Given the description of an element on the screen output the (x, y) to click on. 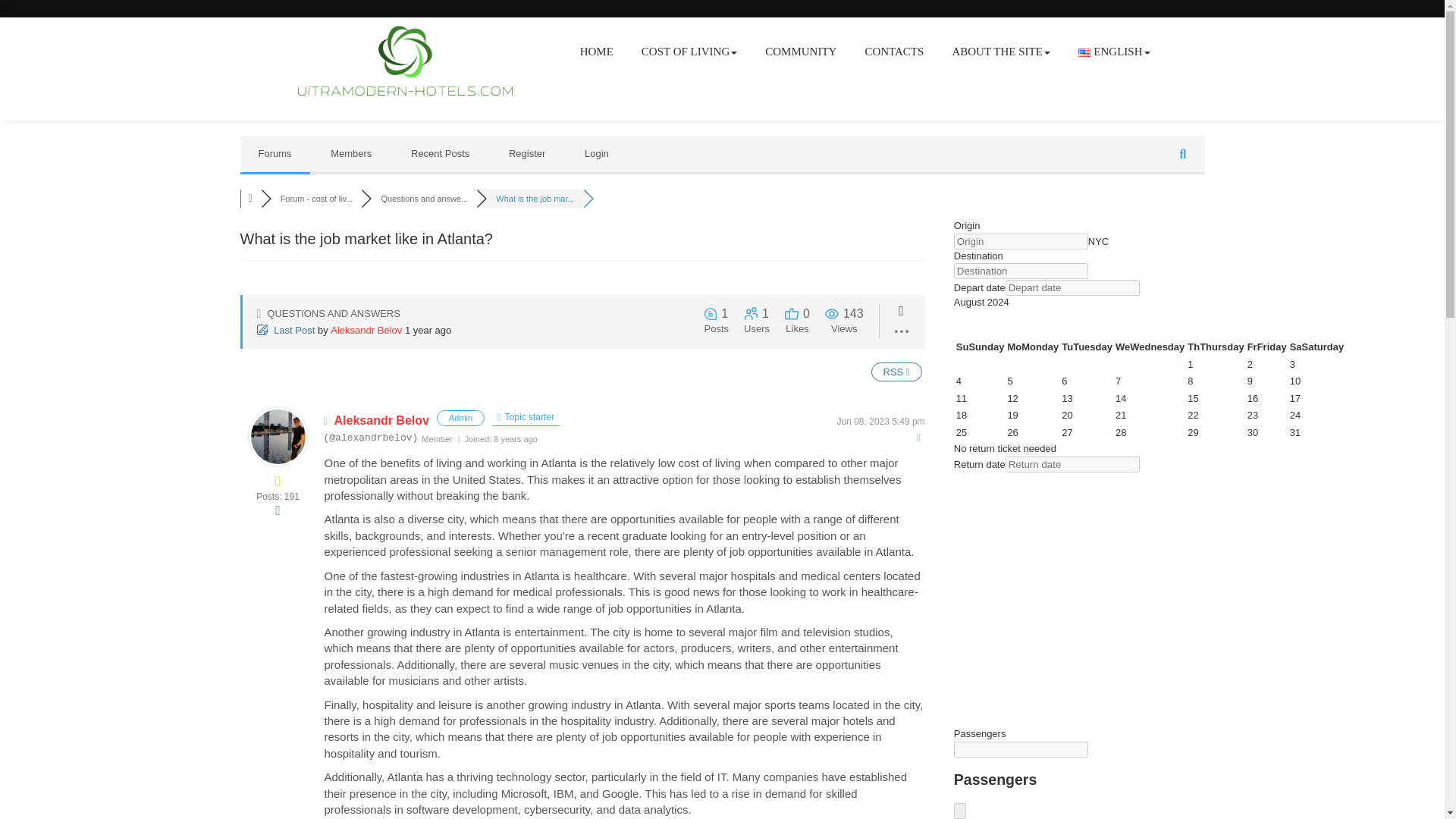
ENGLISH (1113, 51)
Aleksandr Belov (381, 420)
Register (526, 153)
Usergroup (460, 417)
Questions and answers (423, 198)
Login (596, 153)
CONTACTS (893, 51)
Recent Posts (440, 153)
Aleksandr Belov (365, 329)
COMMUNITY (800, 51)
